Given the description of an element on the screen output the (x, y) to click on. 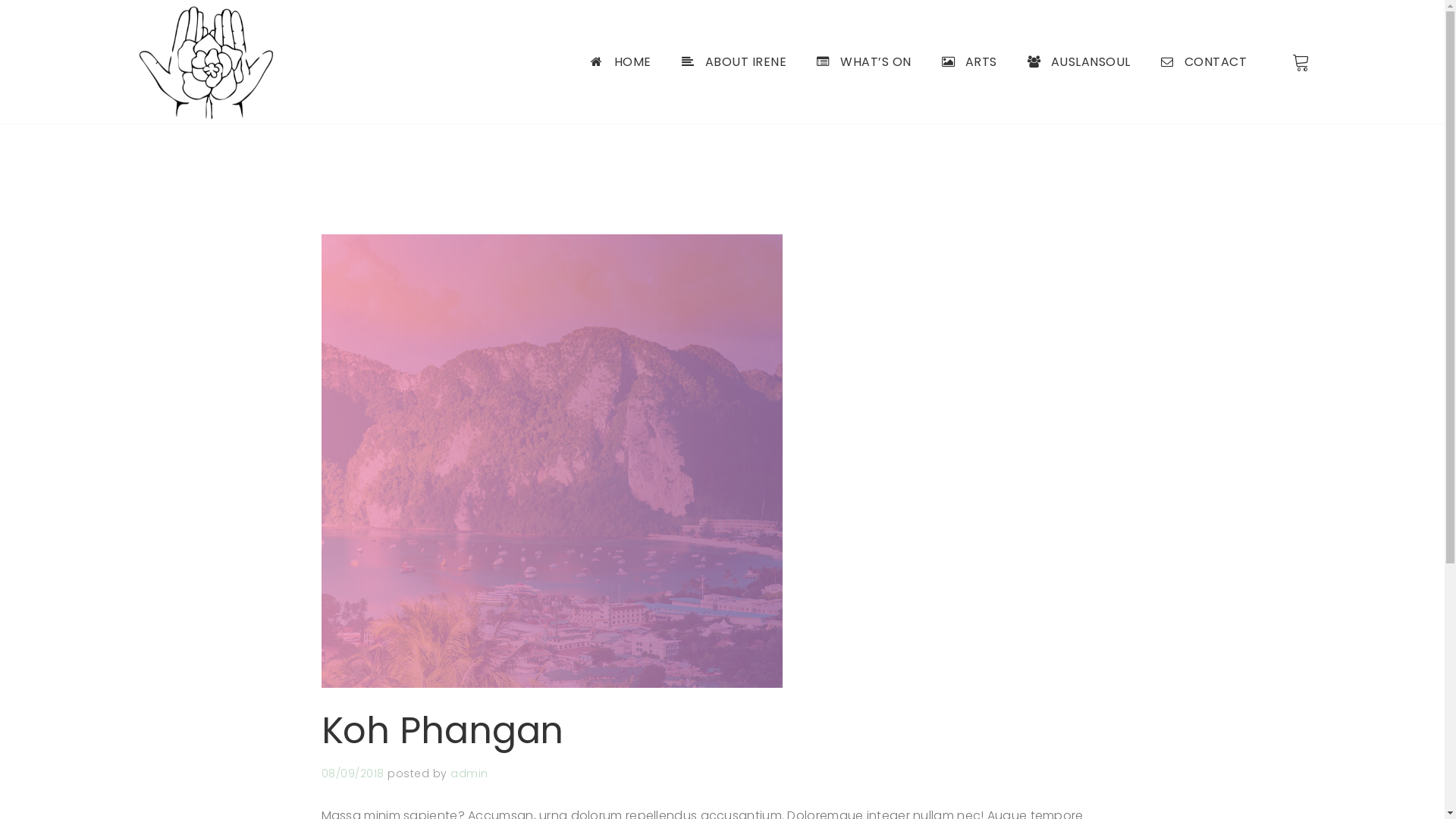
08/09/2018 Element type: text (352, 773)
HOME Element type: text (619, 61)
admin Element type: text (469, 773)
ARTS Element type: text (969, 61)
ABOUT IRENE Element type: text (733, 61)
Irene Holub - Irene presents yoga and arts Element type: hover (208, 61)
CONTACT Element type: text (1203, 61)
AUSLANSOUL Element type: text (1078, 61)
Koh Phangan Element type: text (442, 730)
